Given the description of an element on the screen output the (x, y) to click on. 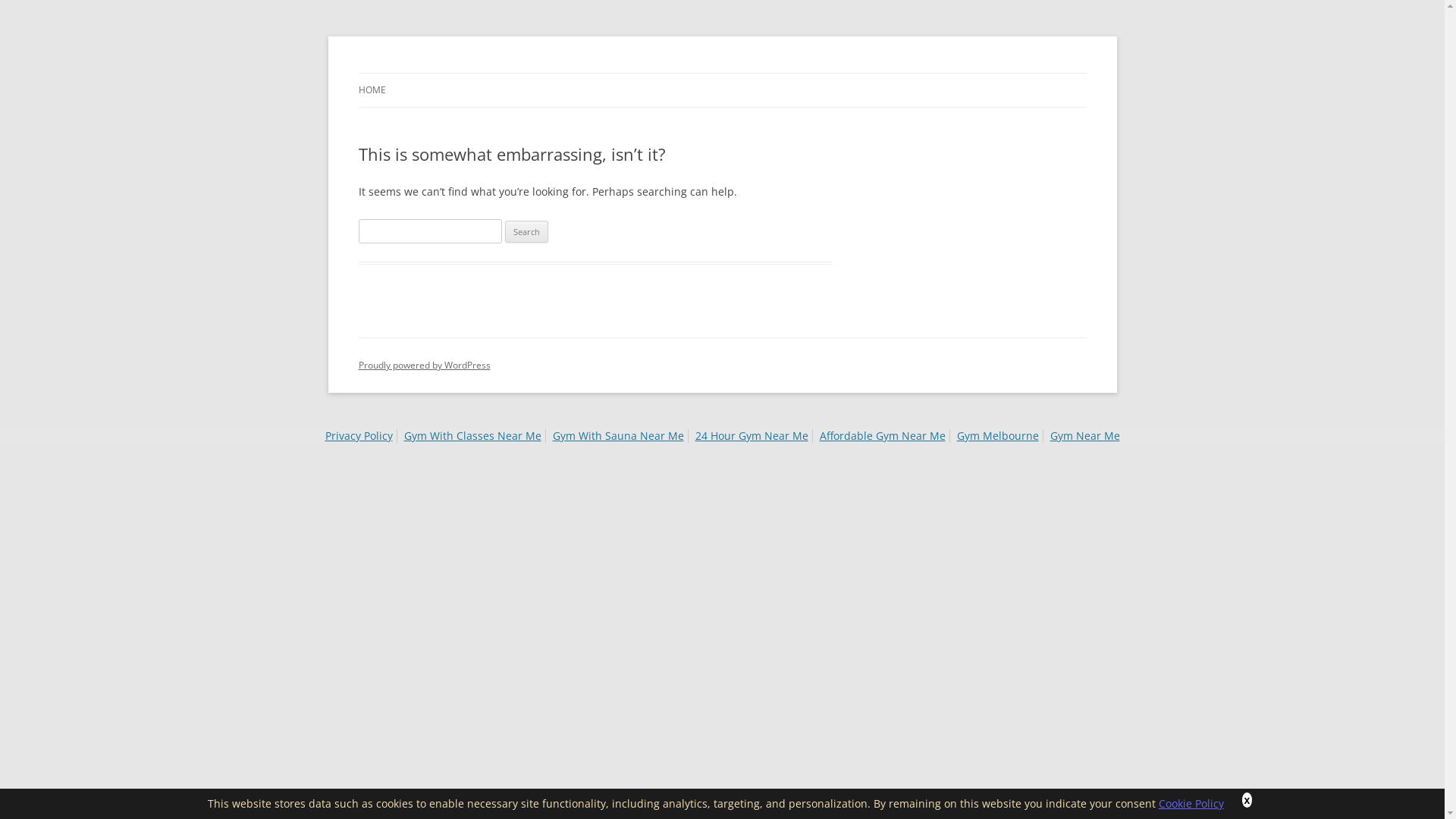
Healthy Lifestyle Element type: text (440, 72)
24 Hour Gym Near Me Element type: text (750, 435)
Cookie Policy Element type: text (1190, 803)
HOME Element type: text (371, 89)
Gym Near Me Element type: text (1084, 435)
Affordable Gym Near Me Element type: text (881, 435)
Skip to content Element type: text (721, 72)
Search Element type: text (526, 231)
Gym With Classes Near Me Element type: text (471, 435)
Privacy Policy Element type: text (358, 435)
Proudly powered by WordPress Element type: text (423, 364)
Gym With Sauna Near Me Element type: text (617, 435)
Gym Melbourne Element type: text (997, 435)
x Element type: text (1247, 799)
